Given the description of an element on the screen output the (x, y) to click on. 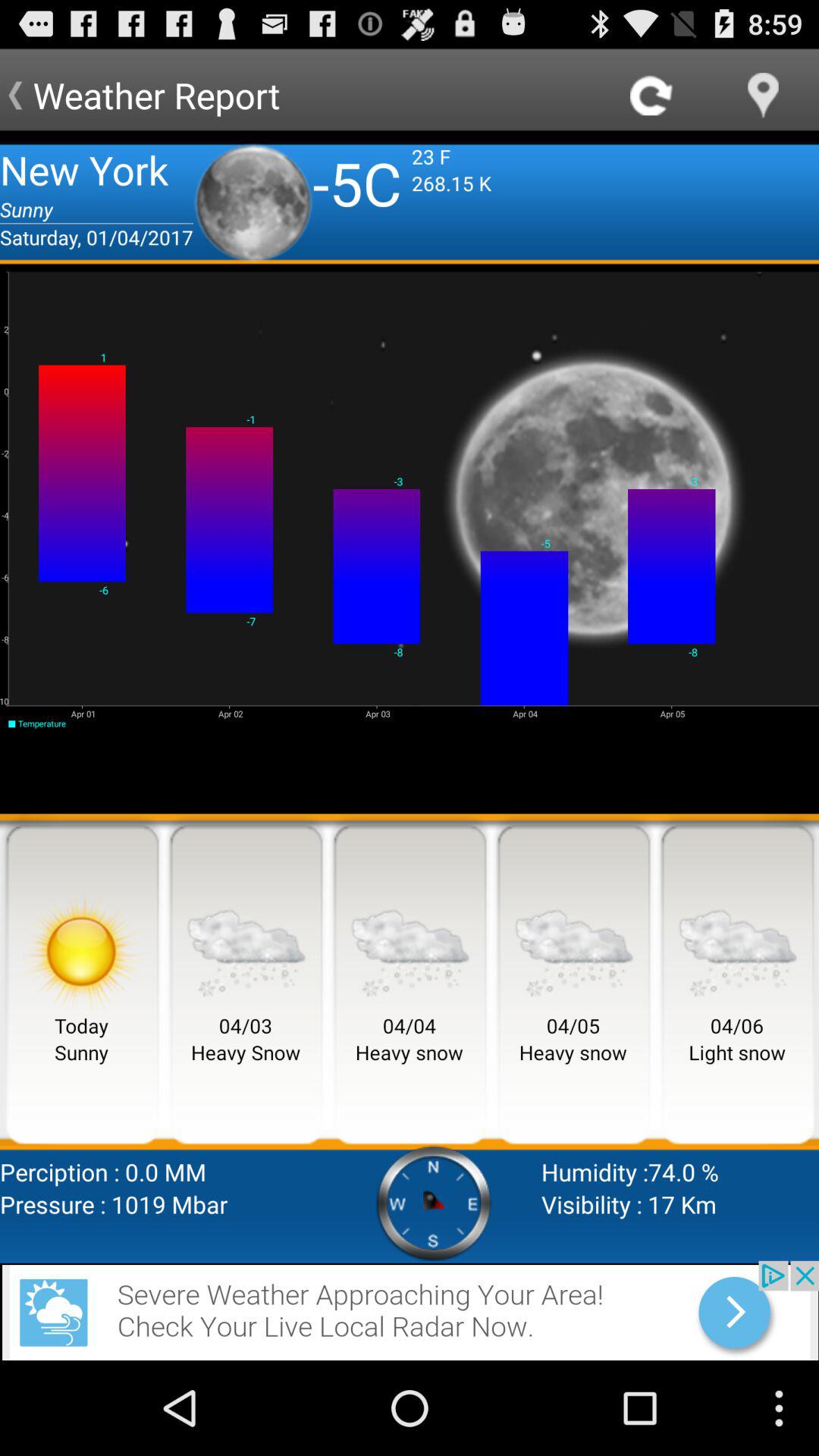
localization (763, 95)
